Given the description of an element on the screen output the (x, y) to click on. 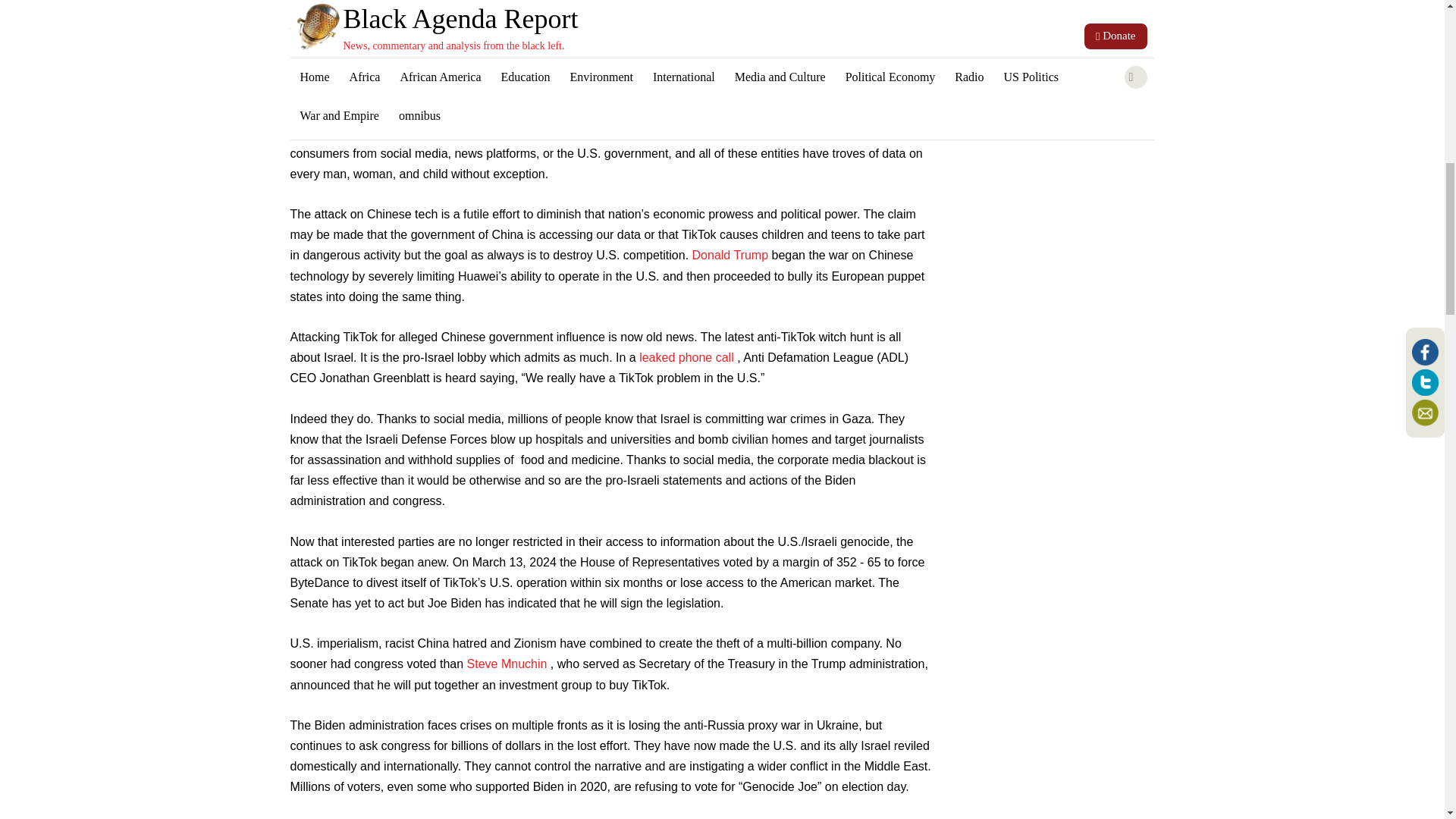
leaked phone call (687, 357)
Donald Trump (730, 254)
Steve Mnuchin (508, 663)
TikTok CEO Shou Zi Chew (470, 91)
